Given the description of an element on the screen output the (x, y) to click on. 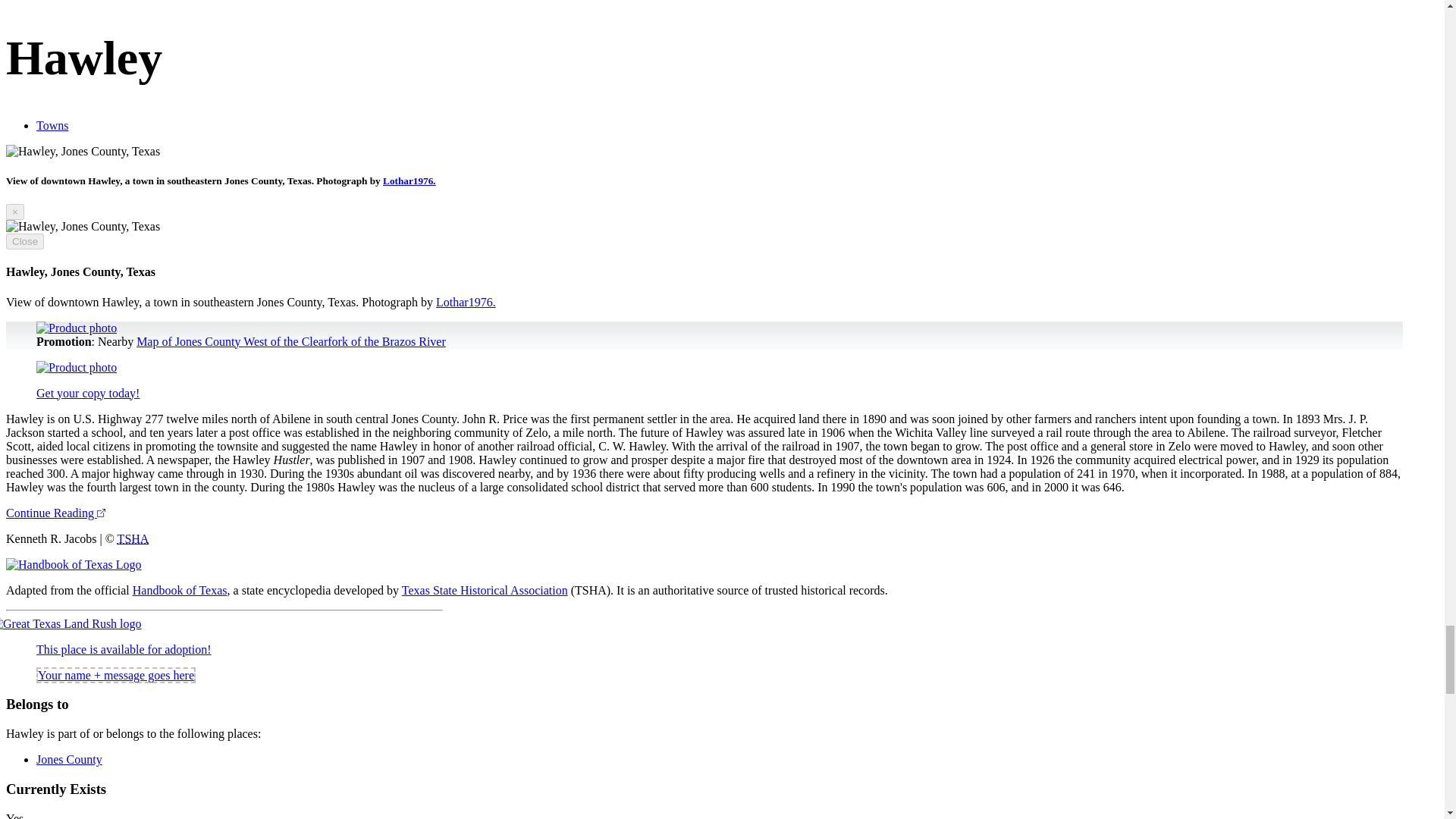
Get your copy today! (87, 392)
Jones County (68, 758)
Texas State Historical Association (133, 538)
Lothar1976. (465, 301)
Lothar1976. (408, 180)
This place is available for adoption! (123, 649)
Continue Reading (54, 512)
TSHA (133, 538)
Handbook of Texas (179, 590)
